Given the description of an element on the screen output the (x, y) to click on. 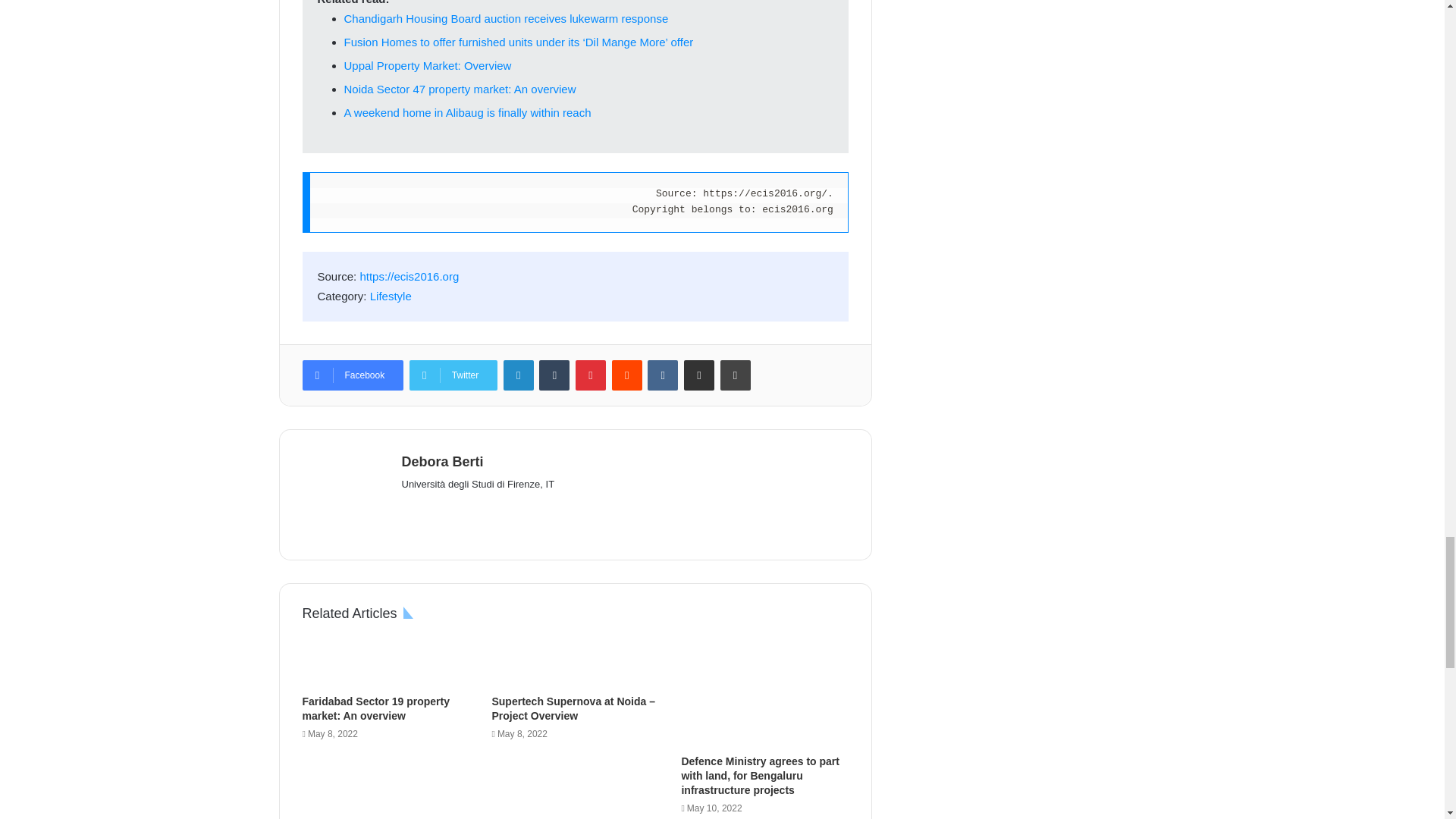
Chandigarh Housing Board auction receives lukewarm response (505, 18)
Uppal Property Market: Overview (427, 65)
Noida Sector 47 property market: An overview (459, 88)
